Given the description of an element on the screen output the (x, y) to click on. 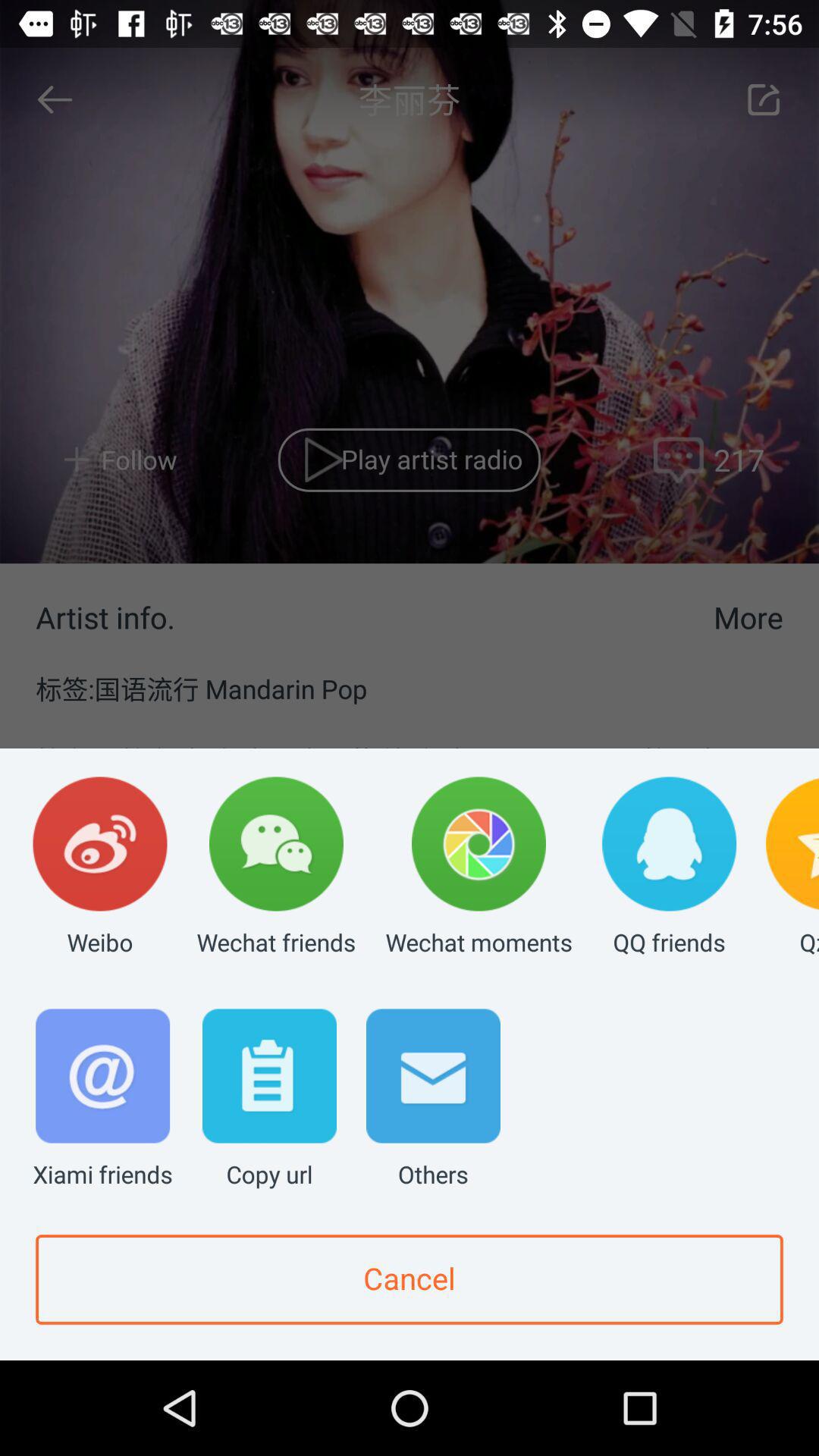
click the app next to others icon (269, 1099)
